Given the description of an element on the screen output the (x, y) to click on. 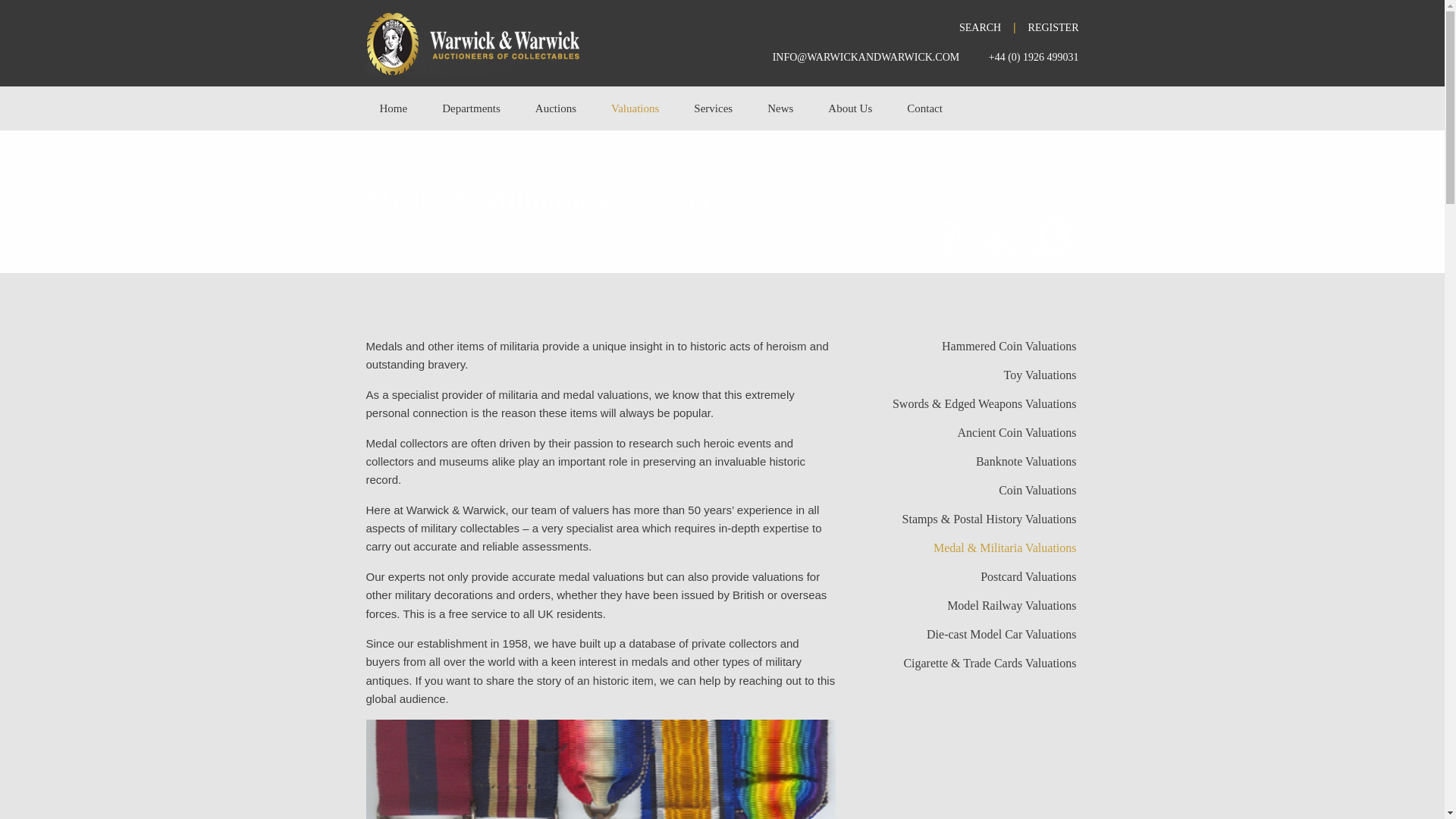
Auctions (555, 108)
Valuations (635, 108)
REGISTER (1052, 27)
Departments (471, 108)
SEARCH (980, 27)
